Given the description of an element on the screen output the (x, y) to click on. 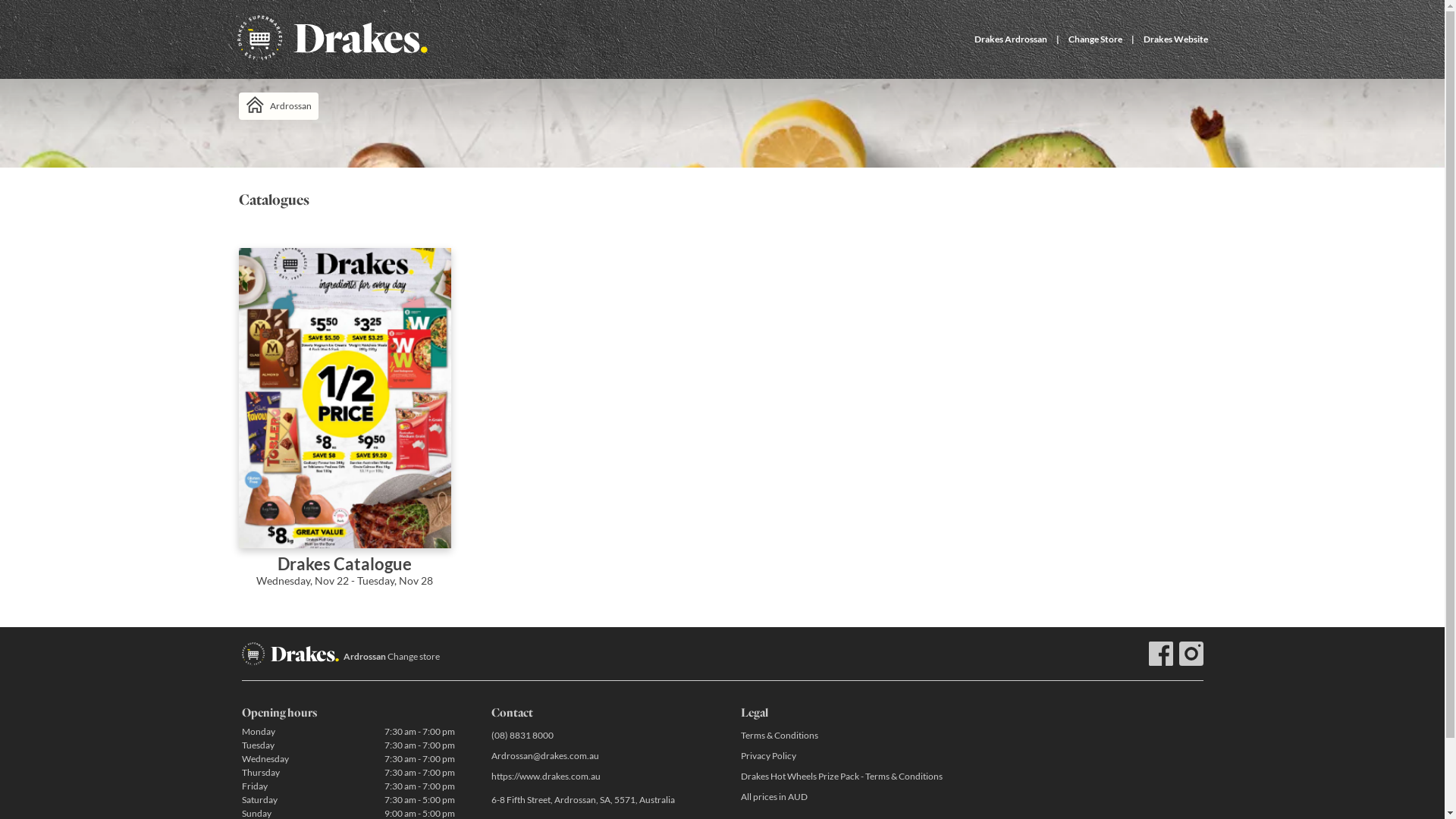
Privacy Policy Element type: text (846, 755)
Change Store Element type: text (1094, 38)
Instagram drakessupermarkets Element type: hover (1190, 653)
https://www.drakes.com.au Element type: text (597, 775)
Ardrossan Element type: text (277, 105)
Drakes Catalogue
Wednesday, Nov 22 - Tuesday, Nov 28 Element type: text (344, 427)
Drakes Website Element type: text (1175, 38)
6-8 Fifth Street, Ardrossan, SA, 5571, Australia Element type: text (597, 800)
Ardrossan@drakes.com.au Element type: text (597, 755)
Ardrossan Change store Element type: text (390, 656)
Drakes Hot Wheels Prize Pack - Terms & Conditions Element type: text (846, 775)
Terms & Conditions Element type: text (846, 734)
(08) 8831 8000 Element type: text (597, 734)
Facebook Element type: hover (1160, 653)
